Given the description of an element on the screen output the (x, y) to click on. 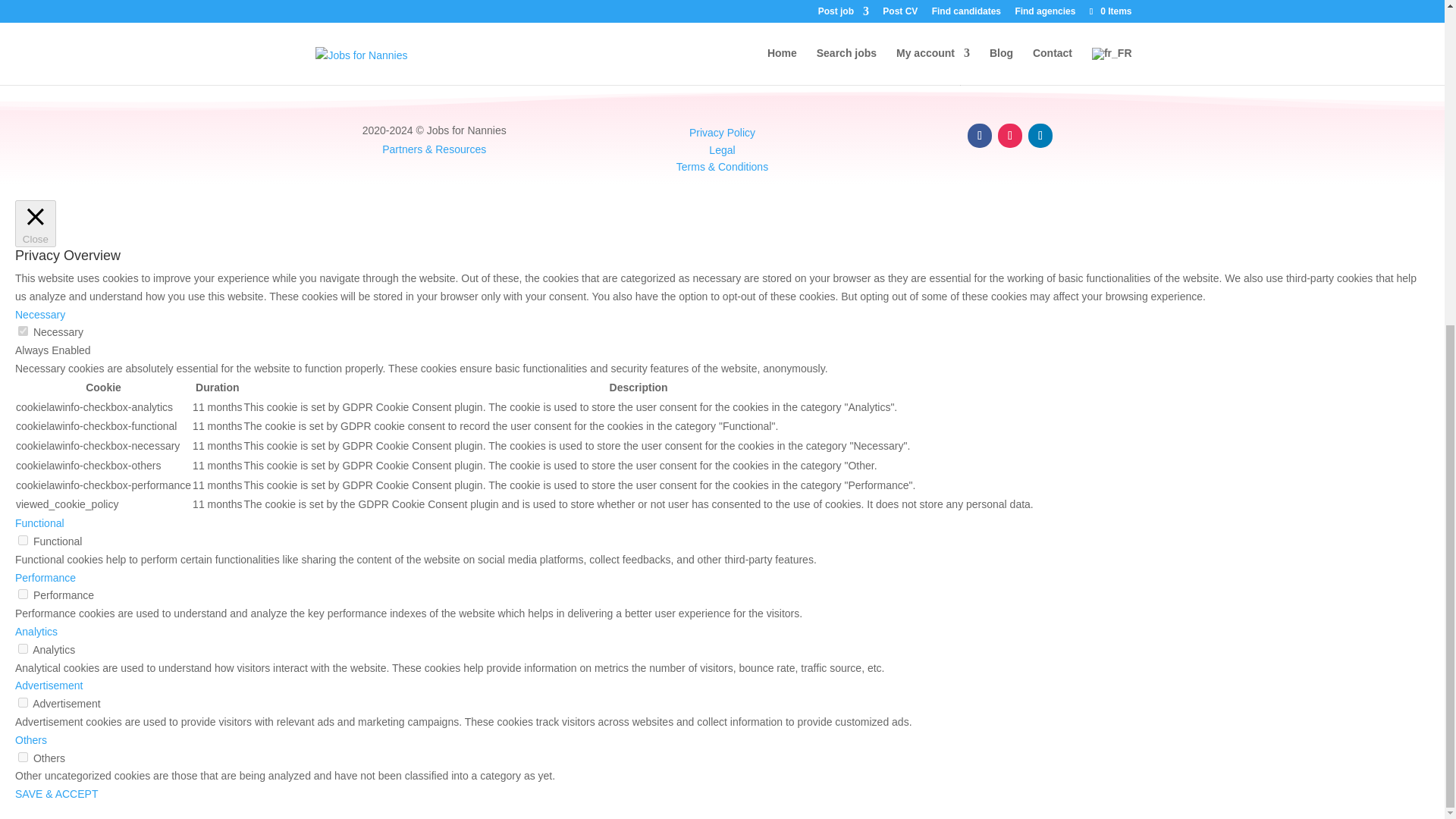
Follow on Instagram (1009, 135)
on (22, 540)
on (22, 593)
on (22, 648)
Follow on Facebook (979, 135)
on (22, 702)
Legal (722, 150)
on (22, 757)
Privacy Policy (721, 132)
Follow on LinkedIn (1039, 135)
